Given the description of an element on the screen output the (x, y) to click on. 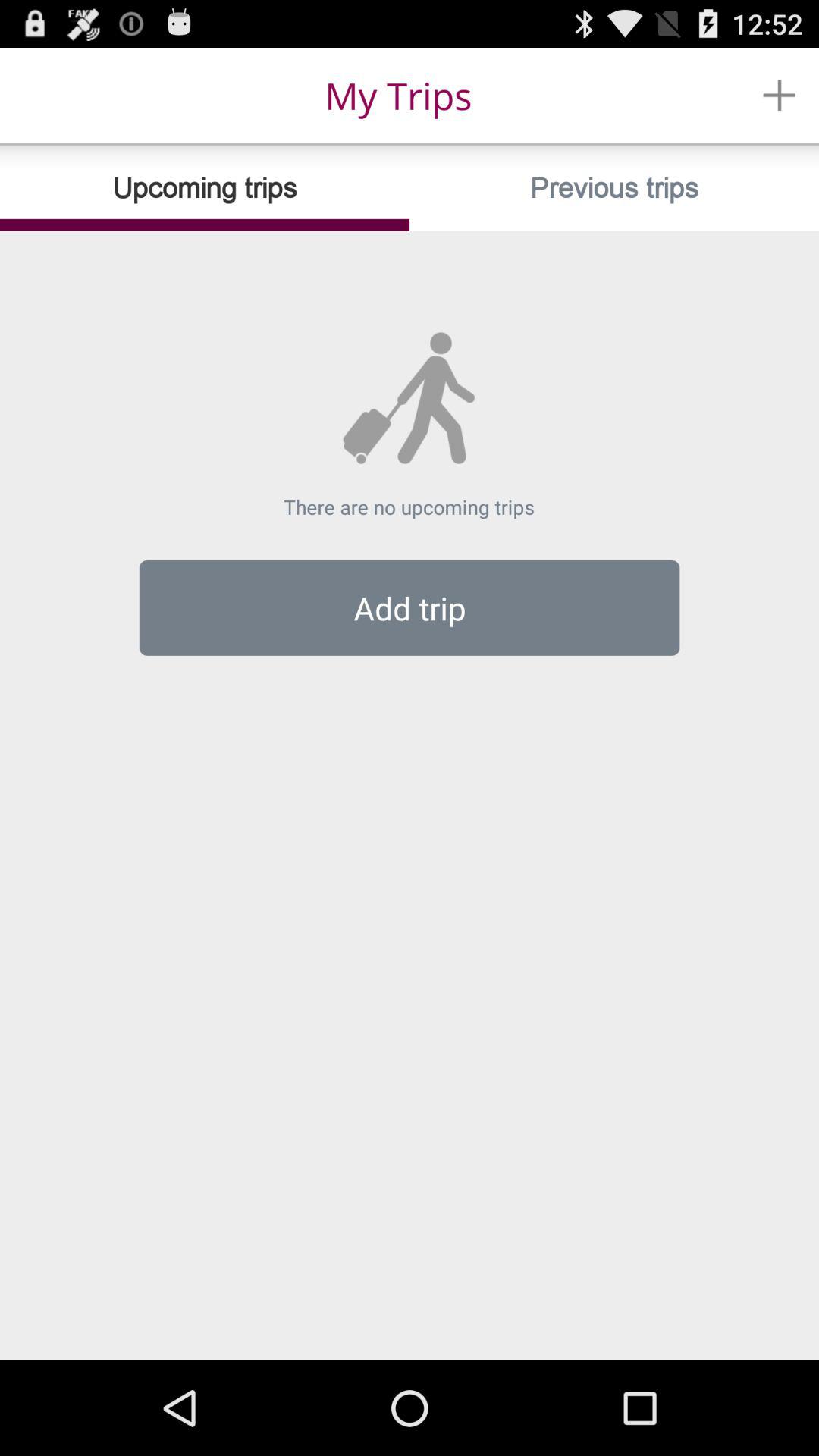
open previous trips icon (614, 187)
